Given the description of an element on the screen output the (x, y) to click on. 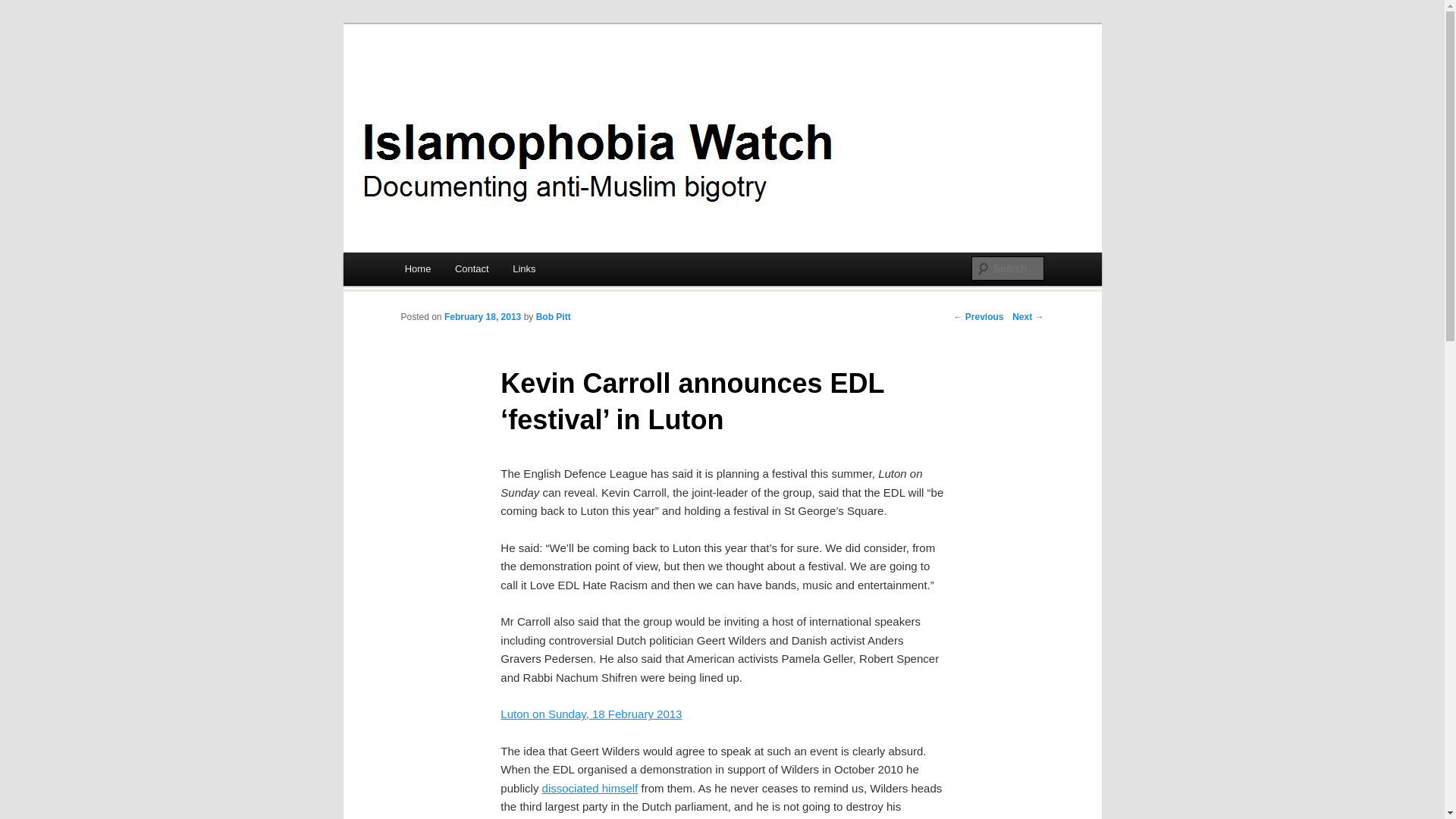
February 18, 2013 (482, 317)
Luton on Sunday, 18 February 2013 (590, 713)
Islamophobia Watch (510, 82)
View all posts by Bob Pitt (552, 317)
Islamophobia Watch (510, 82)
Bob Pitt (552, 317)
dissociated himself (590, 788)
Search (24, 8)
Contact (471, 268)
Home (417, 268)
